Given the description of an element on the screen output the (x, y) to click on. 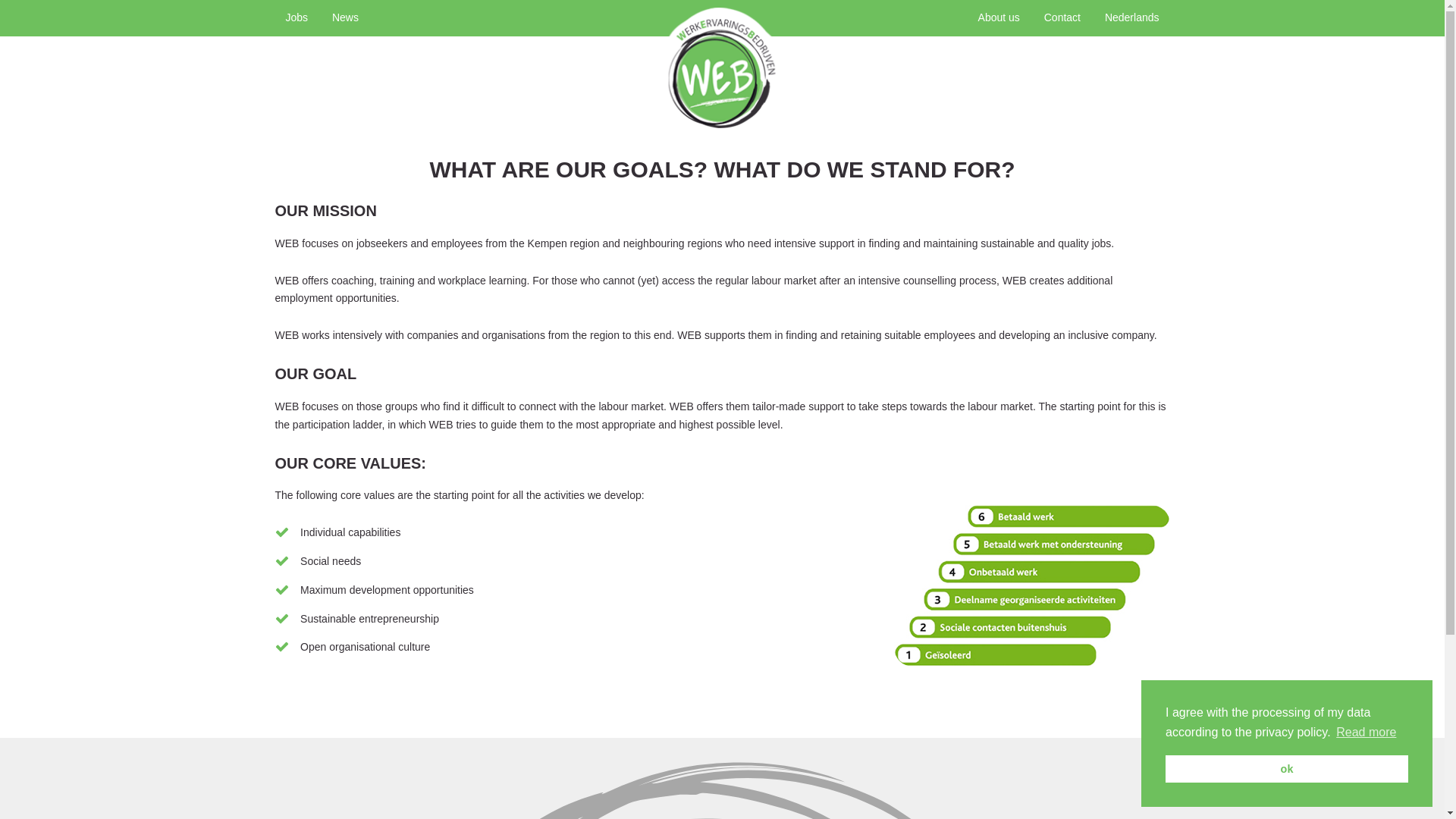
Read more (1366, 732)
Contact (1061, 18)
About us (999, 18)
News (345, 18)
Jobs (296, 18)
Nederlands (1132, 18)
ok (1286, 768)
